Given the description of an element on the screen output the (x, y) to click on. 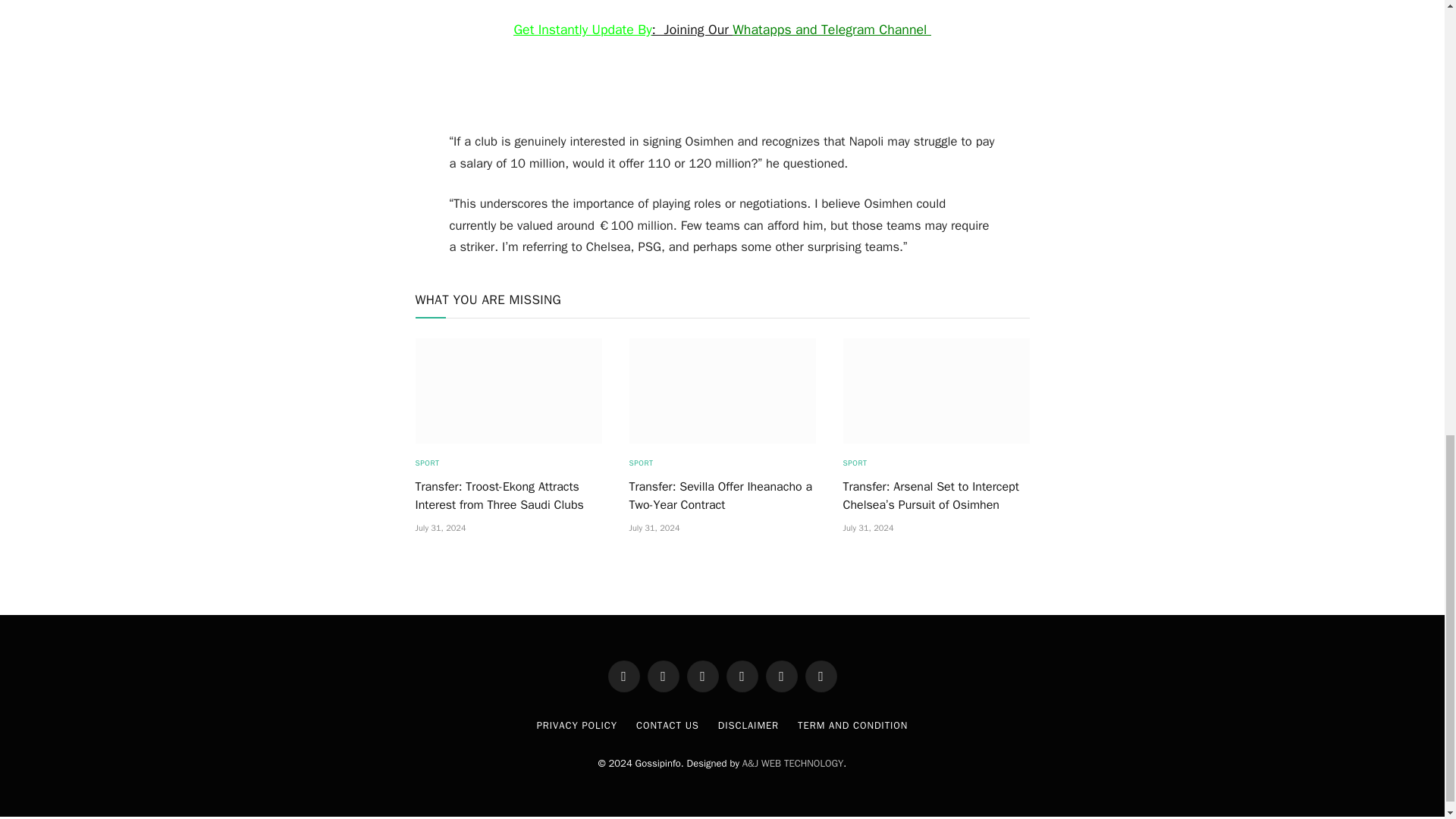
Whatapps and Telegram Channel  (831, 29)
Transfer: Sevilla Offer Iheanacho a Two-Year Contract (721, 390)
